Given the description of an element on the screen output the (x, y) to click on. 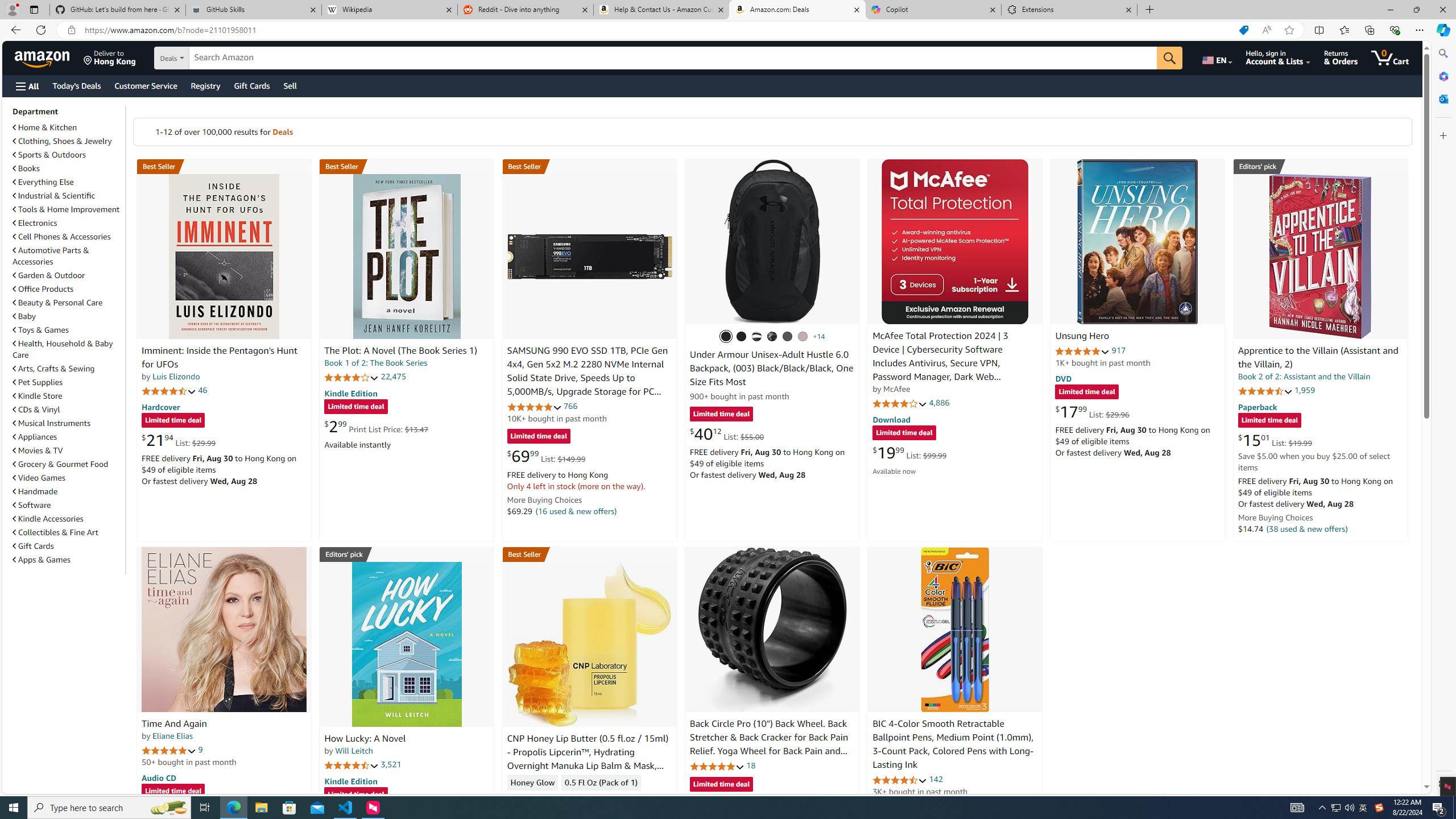
DVD (1063, 378)
(003) Black / Black / Black (725, 336)
$17.99 List: $29.96 (1092, 411)
Home & Kitchen (45, 127)
142 (935, 778)
How Lucky: A Novel (365, 738)
Collectibles & Fine Art (56, 532)
Best Seller in Unexplained Mysteries (223, 165)
Luis Elizondo (175, 376)
$21.94 List: $29.99 (178, 439)
Toys & Games (67, 329)
Appliances (67, 436)
766 (570, 406)
Sell (290, 85)
